Given the description of an element on the screen output the (x, y) to click on. 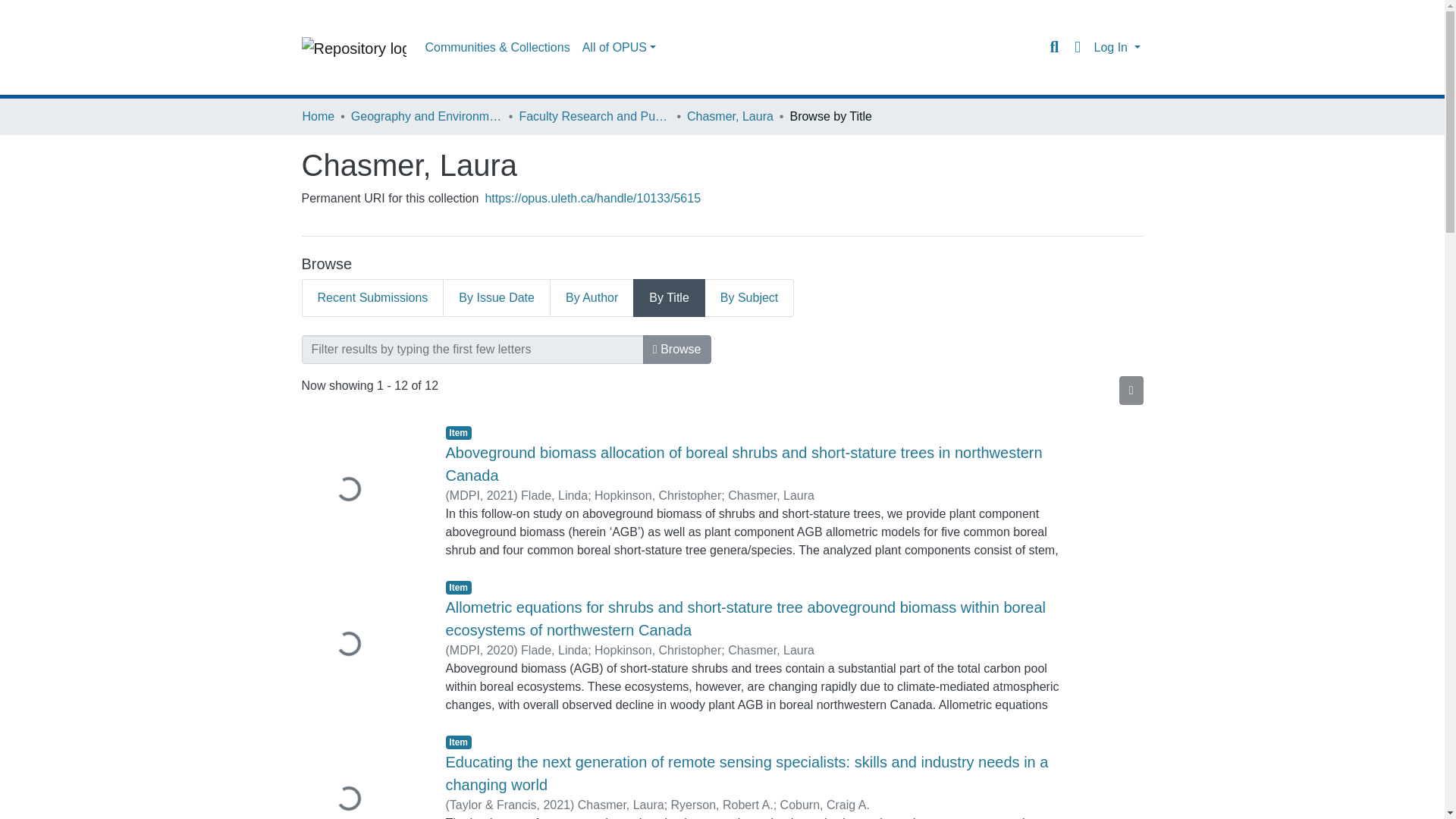
Geography and Environment (426, 116)
Faculty Research and Publications (593, 116)
By Issue Date (496, 297)
By Title (668, 297)
Loading... (362, 490)
Log In (1116, 47)
All of OPUS (619, 47)
Search (1053, 47)
Language switch (1077, 47)
Recent Submissions (372, 297)
